Given the description of an element on the screen output the (x, y) to click on. 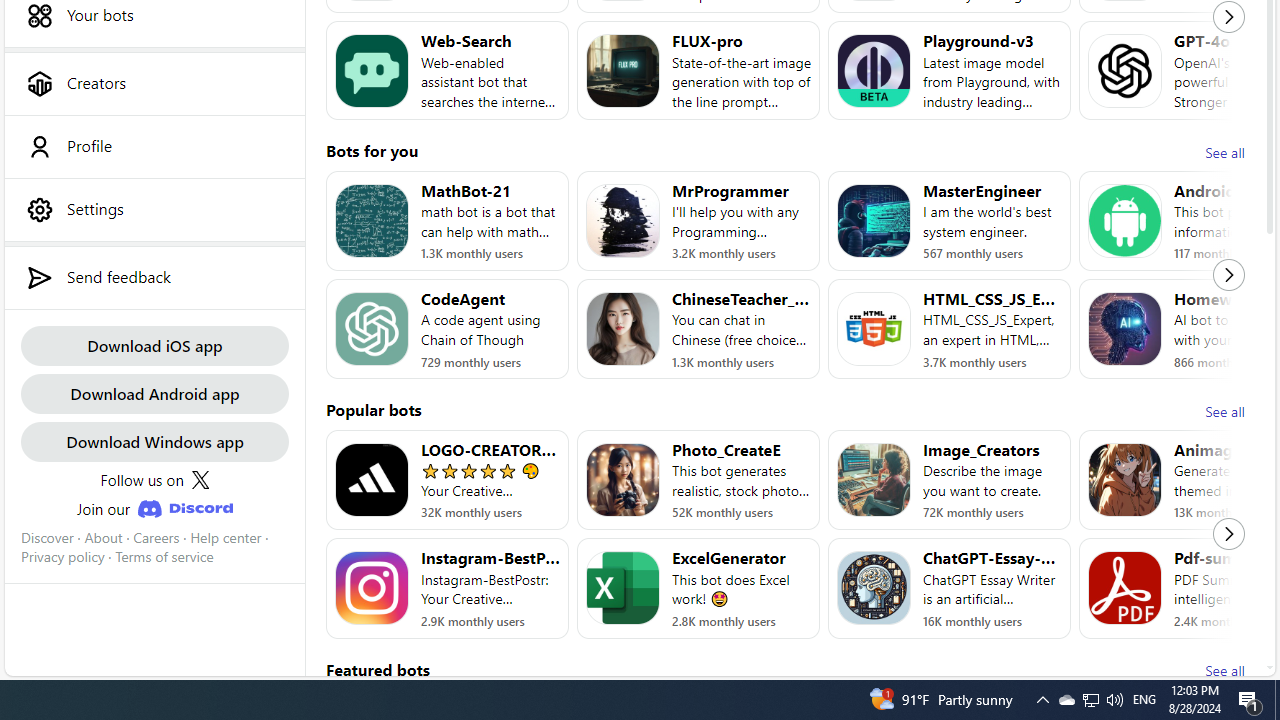
Bot image for Web-Search (371, 70)
Bot image for AndroidAssistant (1124, 220)
Terms of service (164, 557)
Download Windows app (154, 441)
Class: FollowTwitterLink_twitterIconBlack__SS_7V (199, 480)
Bot image for ChineseTeacher_Lily (623, 329)
Bot image for MasterEngineer (874, 220)
Settings (154, 209)
Bot image for Pdf-summarizer-64K (1124, 588)
Follow us on (154, 479)
Profile (154, 146)
